Given the description of an element on the screen output the (x, y) to click on. 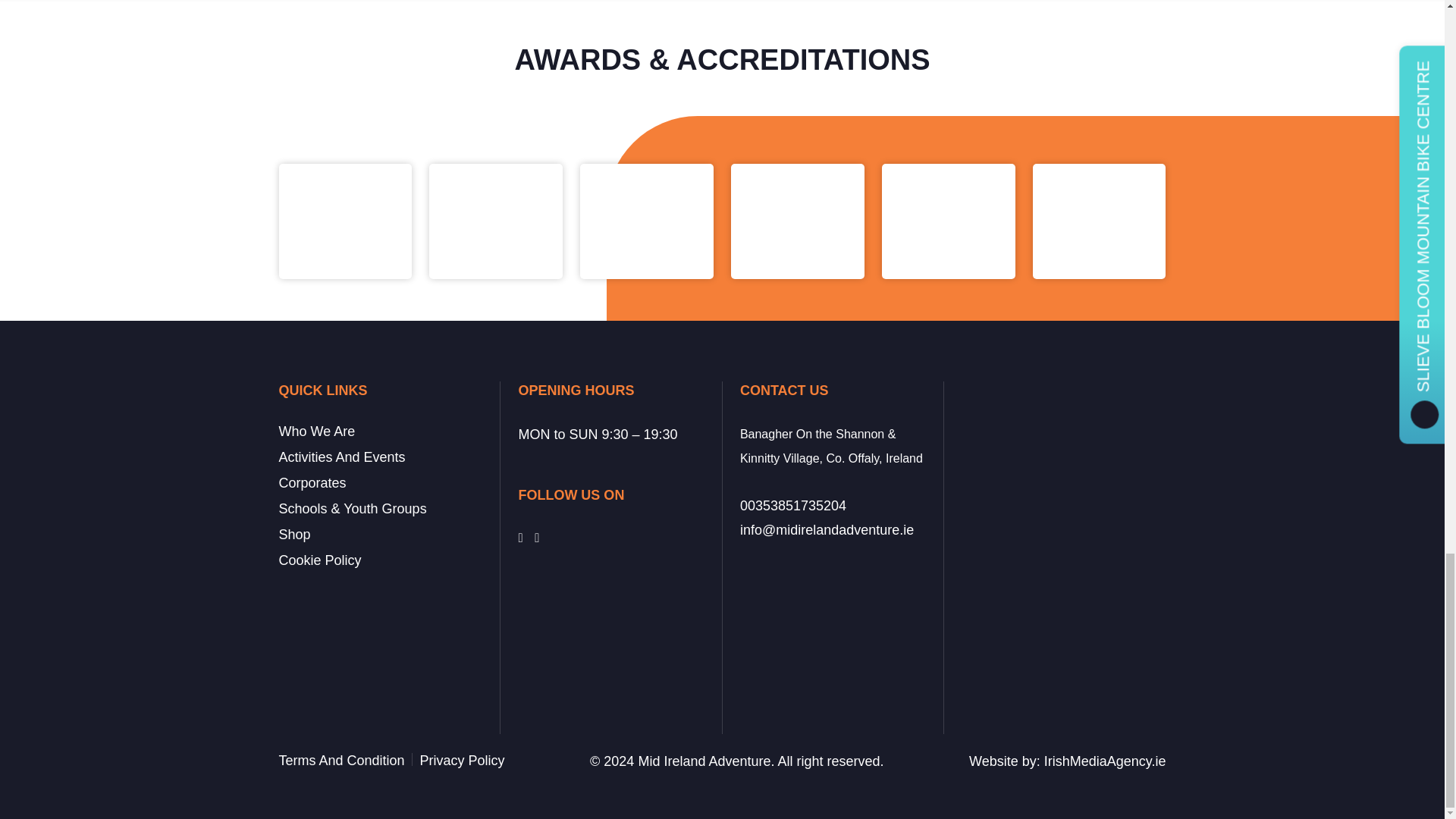
Shop (295, 534)
Cookie Policy (320, 560)
IrishMediaAgency.ie (1104, 761)
Activities And Events (342, 456)
Corporates (312, 483)
Who We Are (317, 431)
Privacy Policy (462, 760)
Terms And Condition (341, 760)
